Given the description of an element on the screen output the (x, y) to click on. 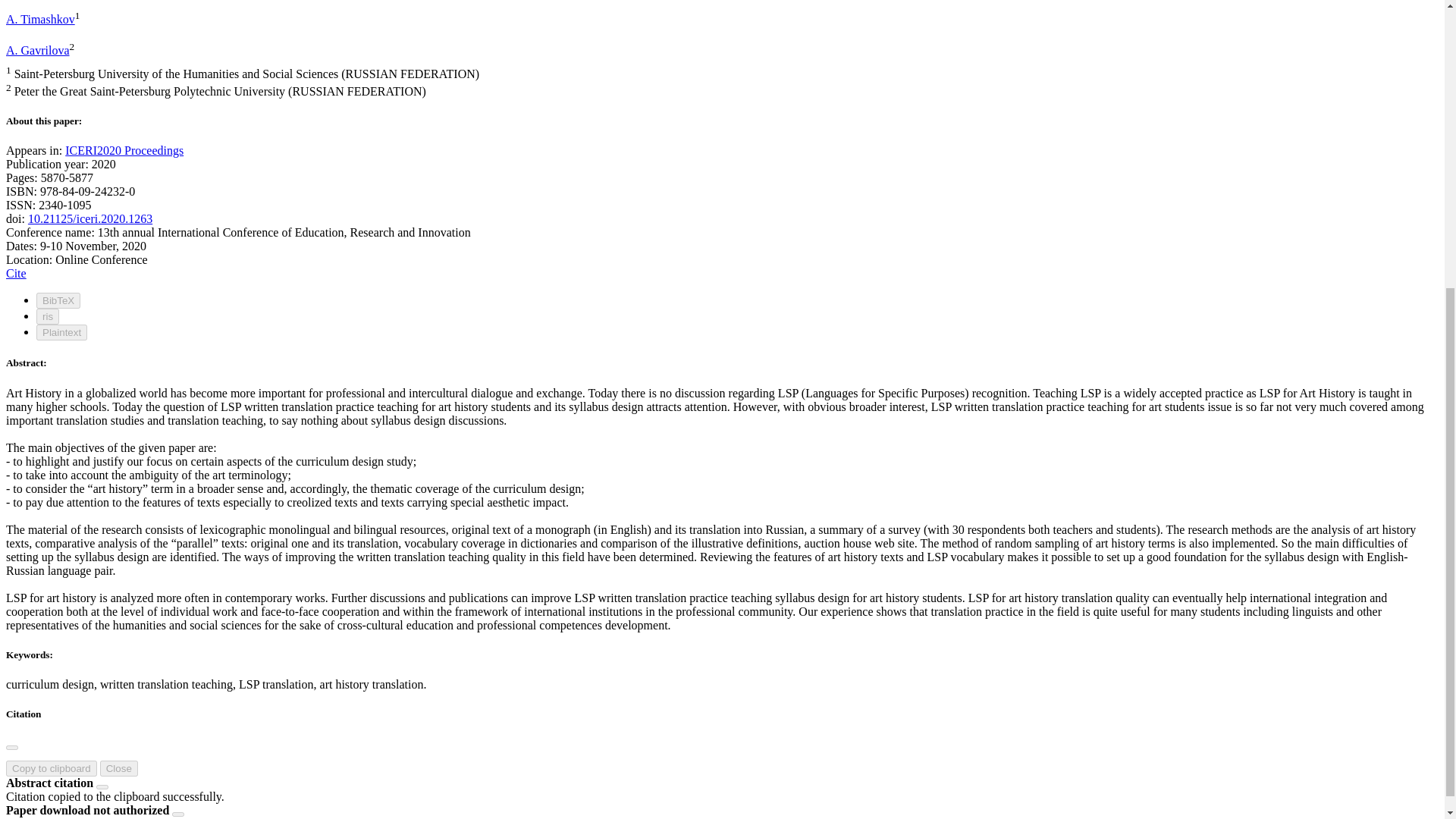
Copy to clipboard (51, 768)
doi (89, 218)
A. Timashkov (40, 19)
Close (119, 768)
ris (47, 316)
Cite (15, 273)
A. Gavrilova (37, 50)
ICERI2020 Proceedings (124, 150)
Plaintext (61, 332)
BibTeX (58, 300)
